Given the description of an element on the screen output the (x, y) to click on. 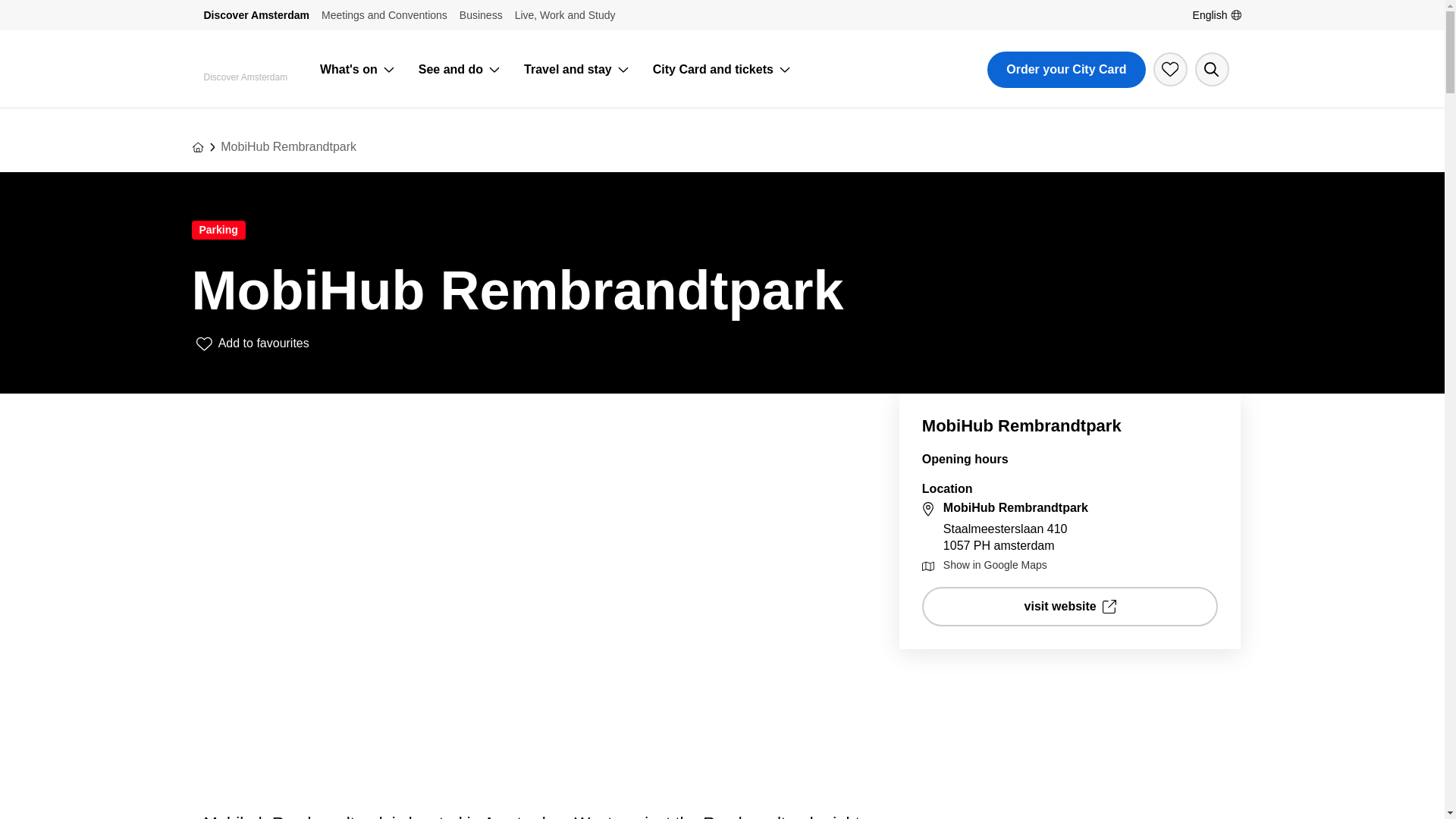
Home (196, 146)
Order your City Card (1065, 69)
What's on (348, 69)
English (1216, 15)
City Card and tickets (712, 69)
See and do (451, 69)
Travel and stay (567, 69)
Search (1211, 69)
Your favourites (1169, 69)
